Given the description of an element on the screen output the (x, y) to click on. 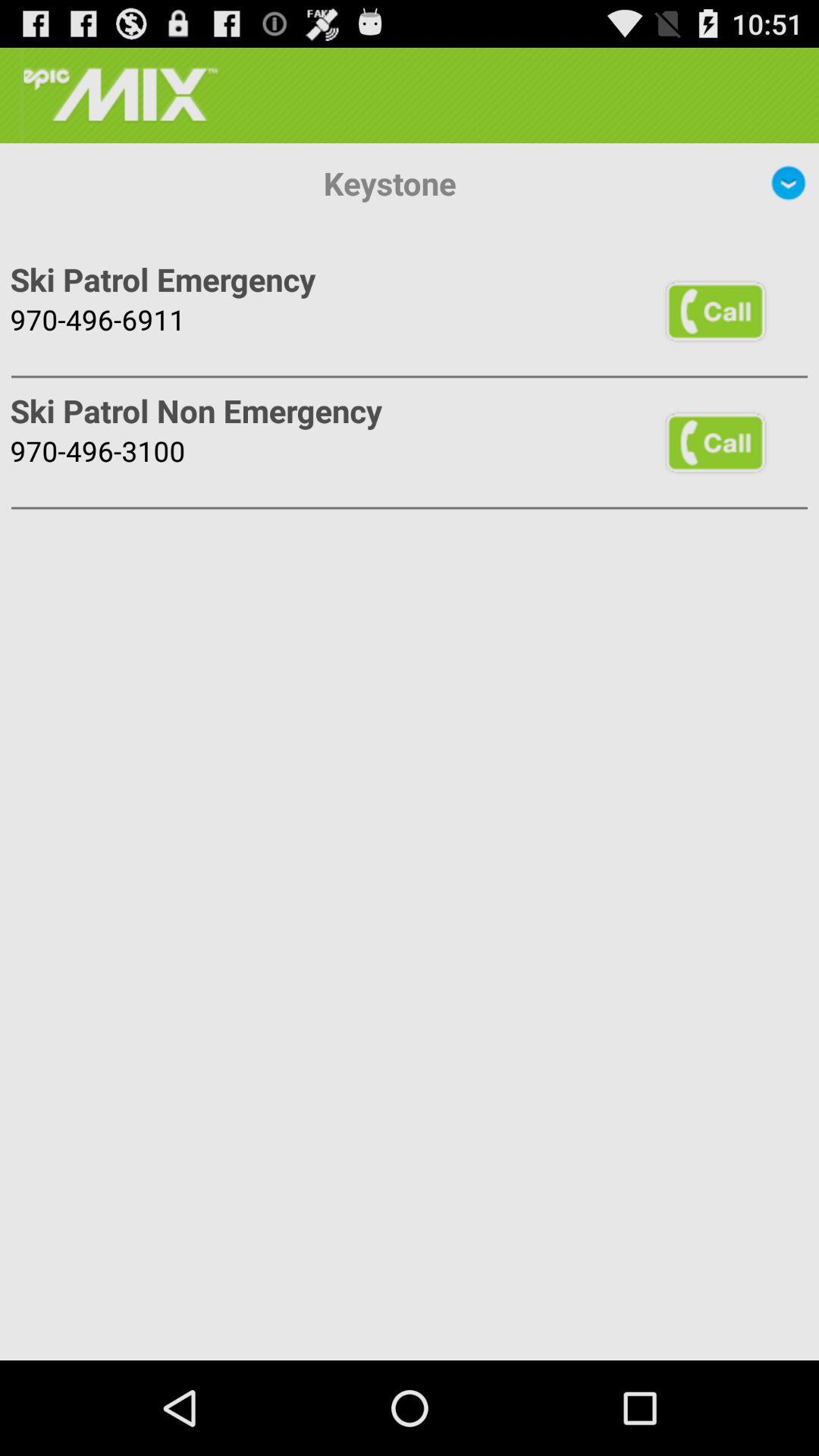
open the item to the right of the ski patrol non (714, 442)
